Given the description of an element on the screen output the (x, y) to click on. 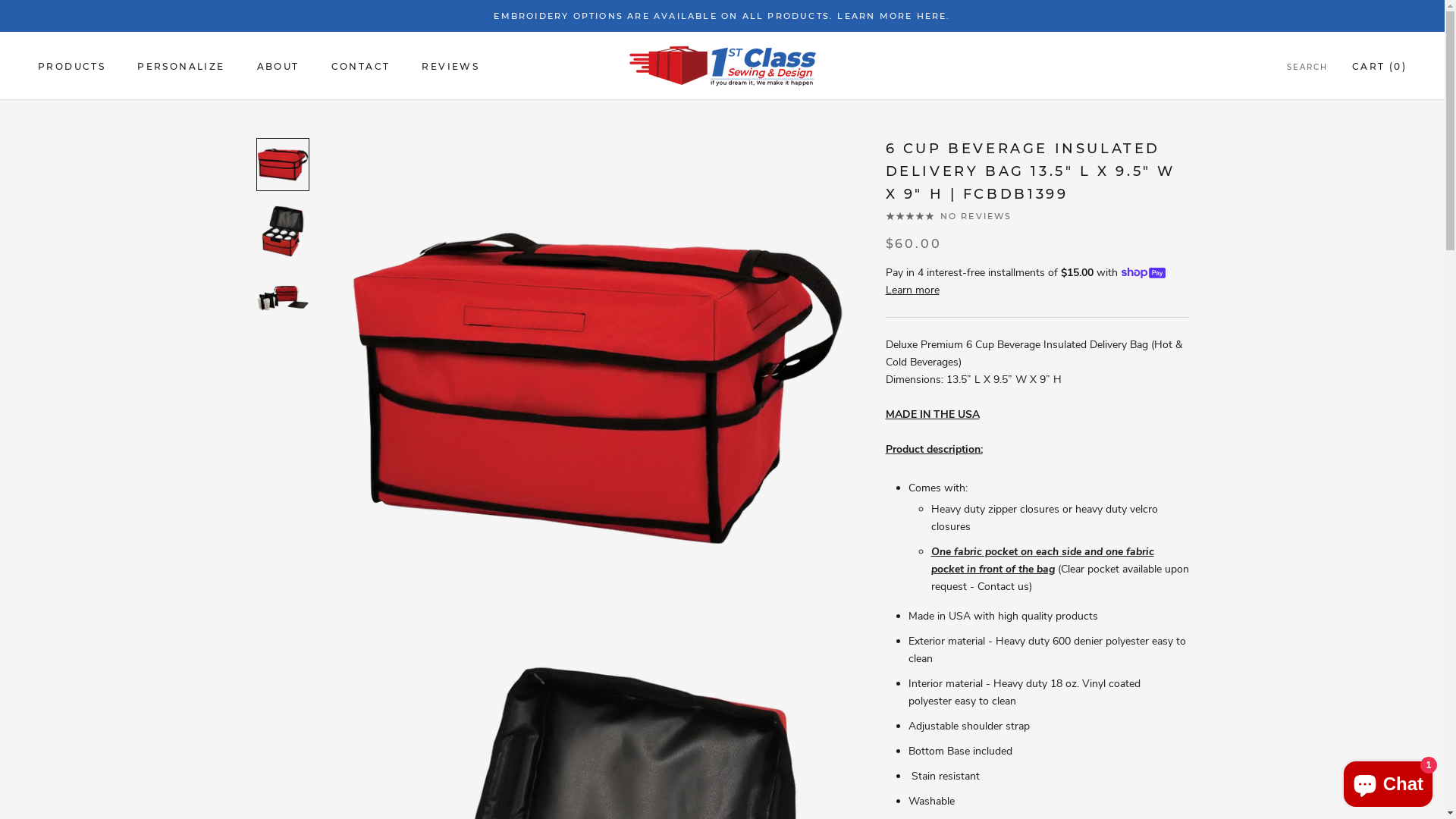
PERSONALIZE Element type: text (180, 66)
CART (0) Element type: text (1379, 66)
PRODUCTS Element type: text (71, 66)
REVIEWS
REVIEWS Element type: text (450, 66)
CONTACT
CONTACT Element type: text (360, 66)
Shopify online store chat Element type: hover (1388, 780)
SEARCH Element type: text (1306, 67)
ABOUT Element type: text (278, 66)
